Given the description of an element on the screen output the (x, y) to click on. 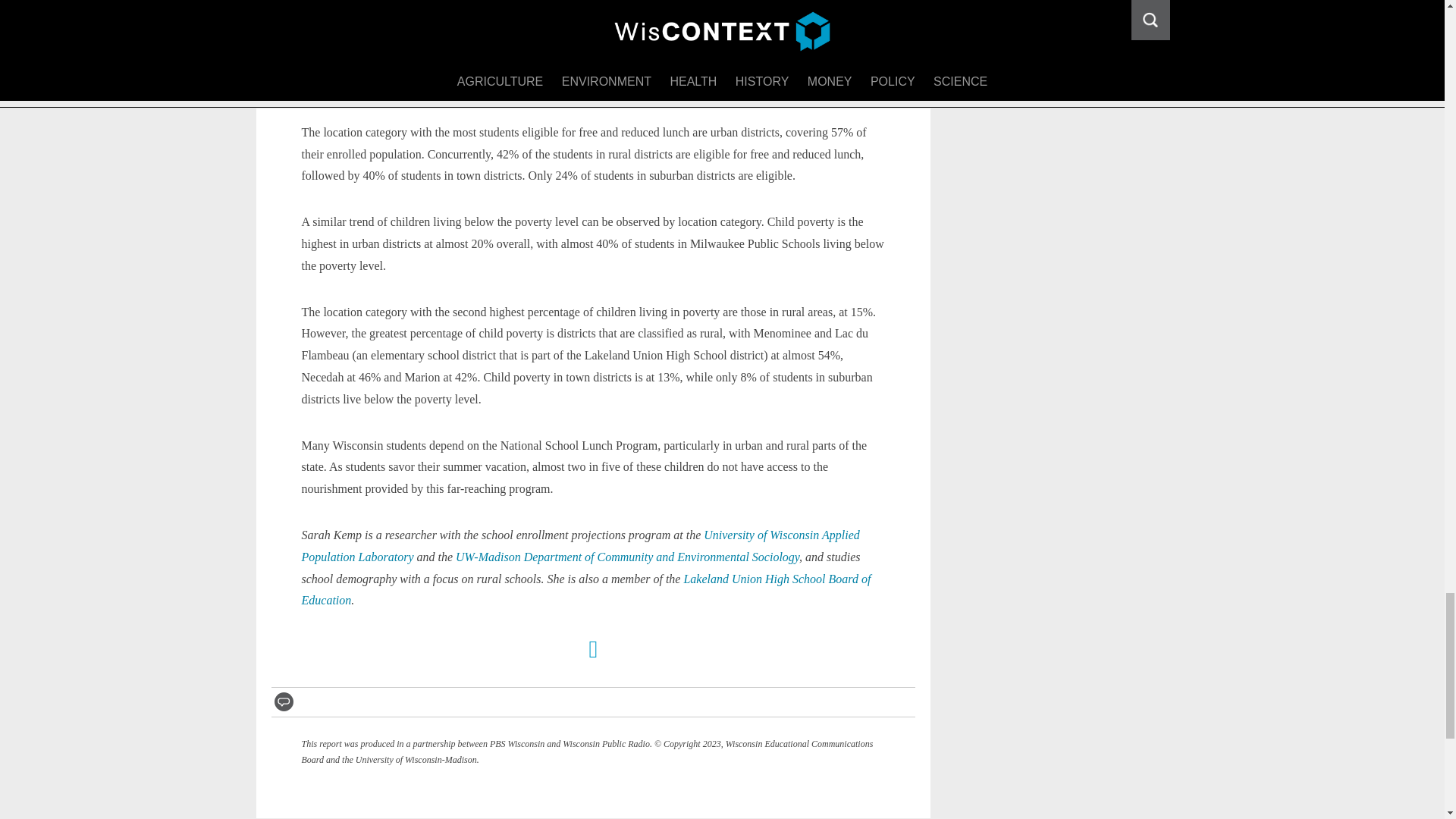
University of Wisconsin Applied Population Laboratory (580, 545)
Lakeland Union High School Board of Education (585, 589)
